Given the description of an element on the screen output the (x, y) to click on. 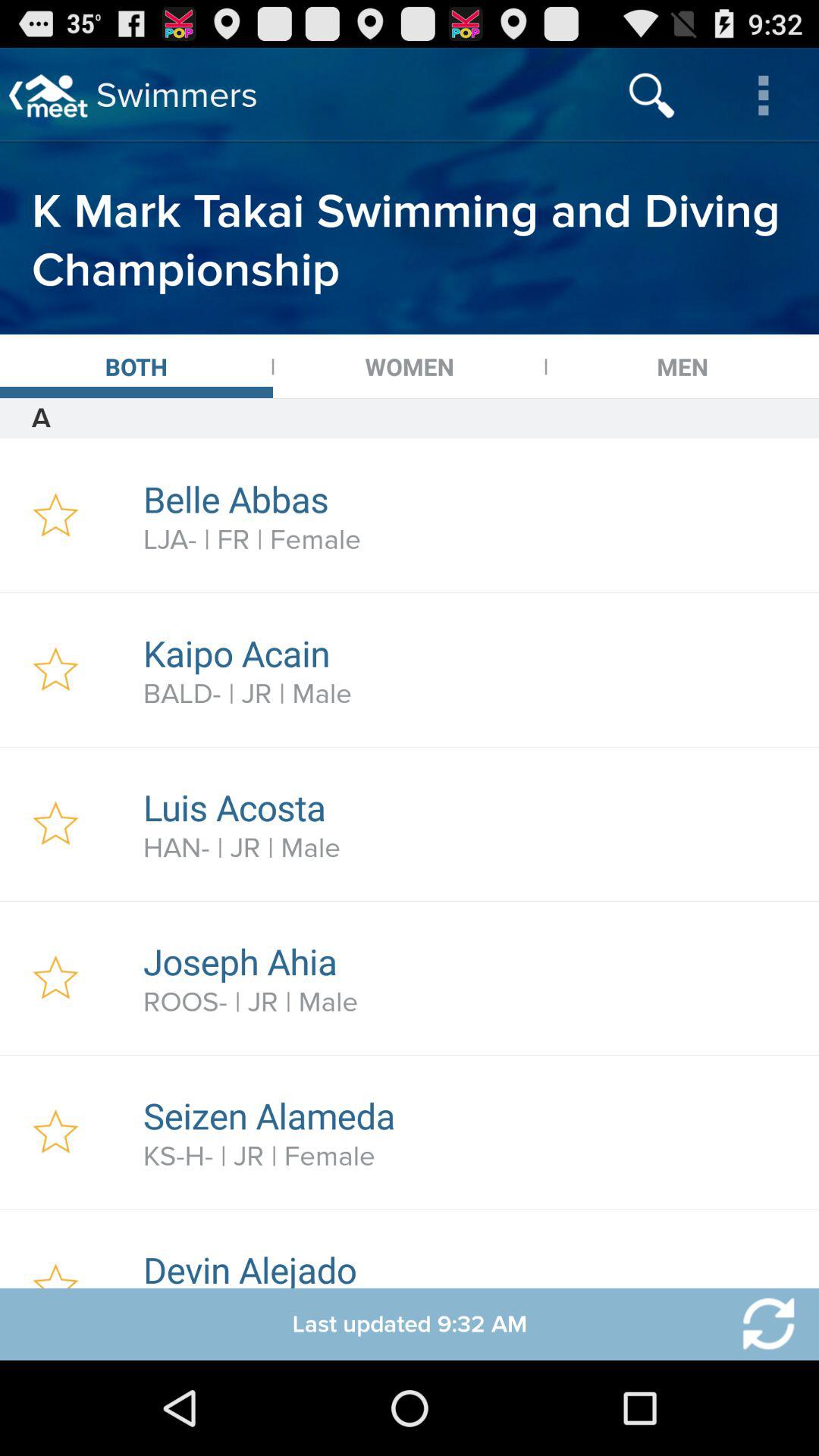
tap icon above the kaipo acain (473, 539)
